Given the description of an element on the screen output the (x, y) to click on. 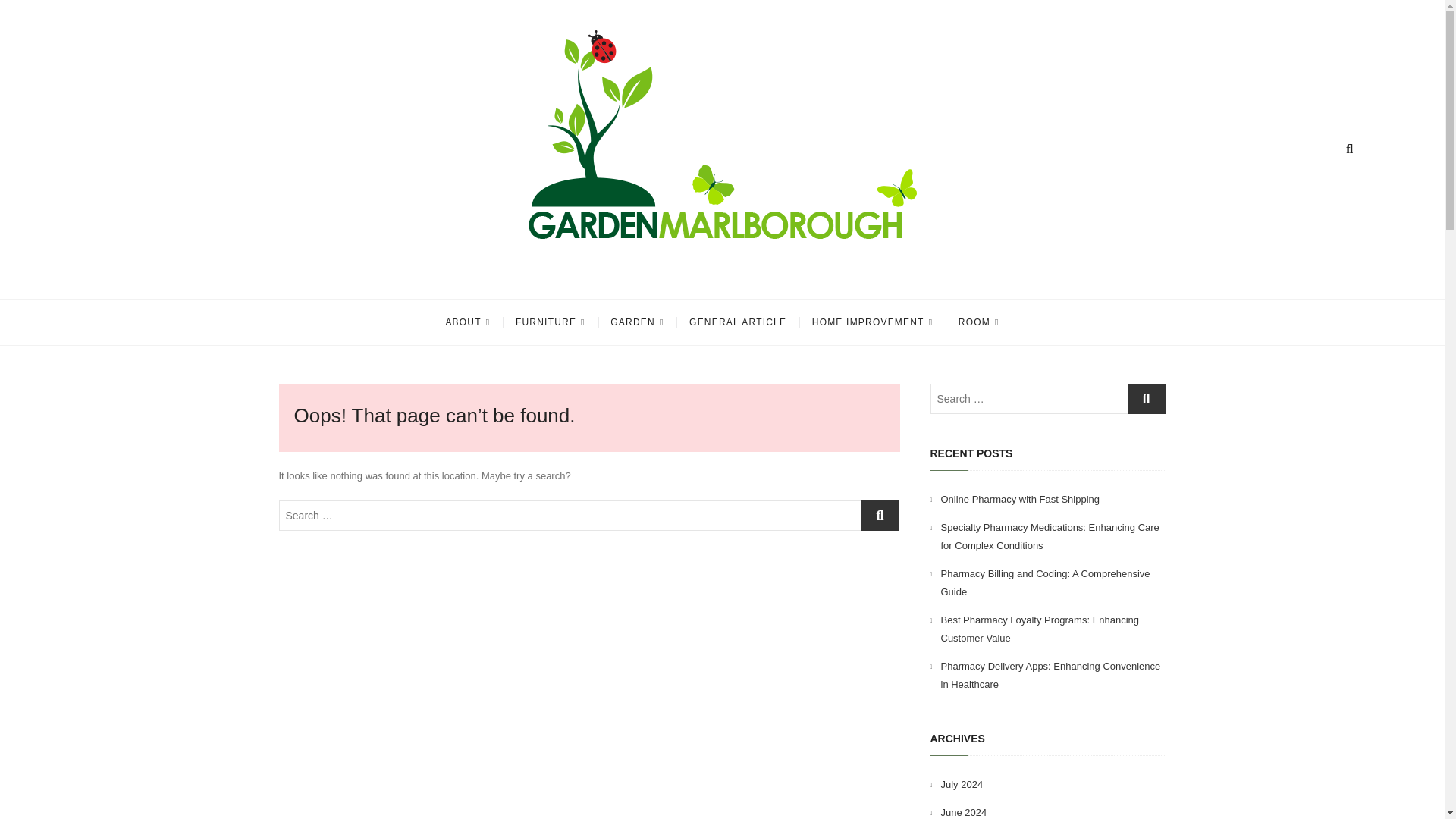
ABOUT (466, 321)
HOME IMPROVEMENT (871, 321)
FURNITURE (549, 321)
GARDEN (636, 321)
GENERAL ARTICLE (737, 321)
Garden Marlborough (429, 278)
Garden Marlborough (429, 278)
